Given the description of an element on the screen output the (x, y) to click on. 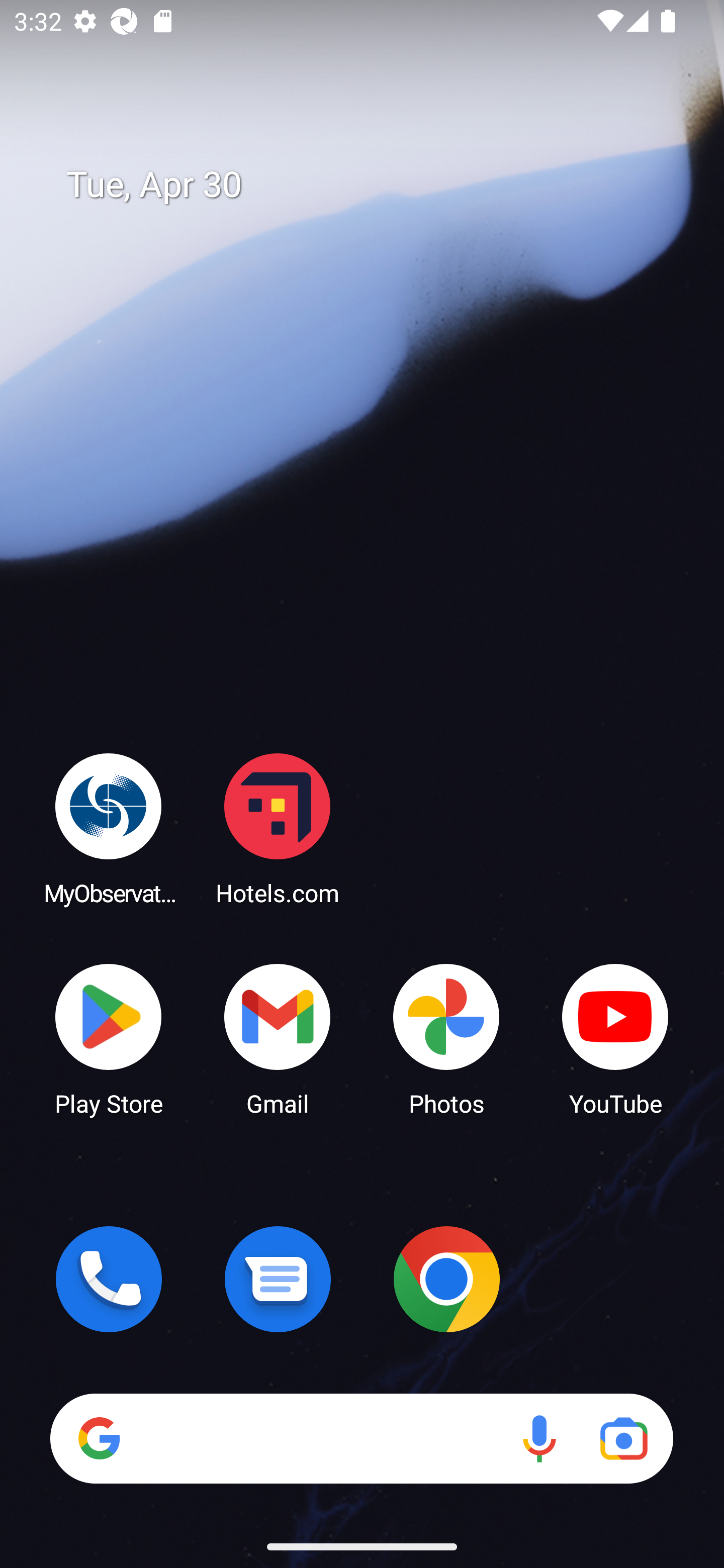
Tue, Apr 30 (375, 184)
MyObservatory (108, 828)
Hotels.com (277, 828)
Play Store (108, 1038)
Gmail (277, 1038)
Photos (445, 1038)
YouTube (615, 1038)
Phone (108, 1279)
Messages (277, 1279)
Chrome (446, 1279)
Voice search (539, 1438)
Google Lens (623, 1438)
